Given the description of an element on the screen output the (x, y) to click on. 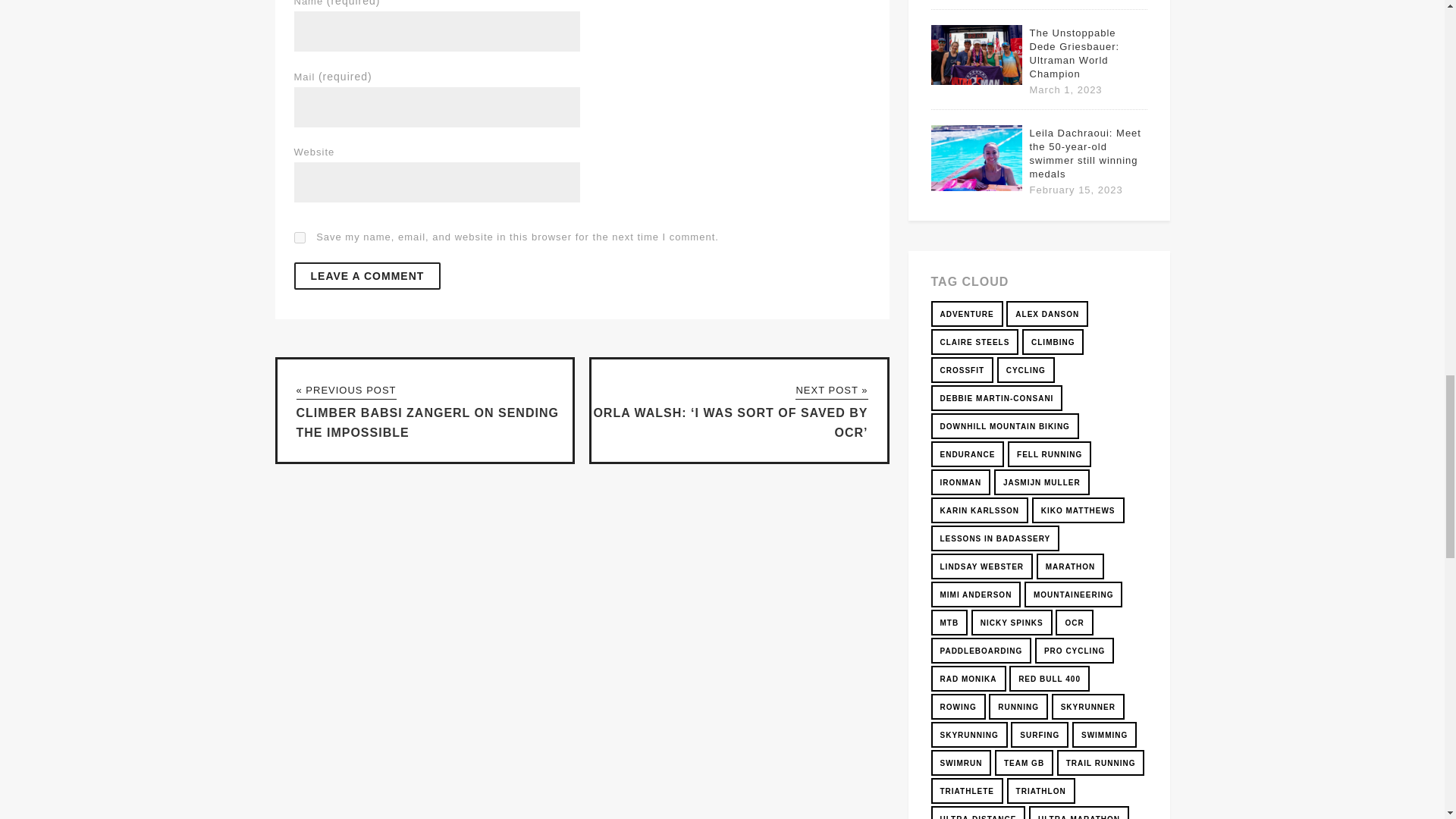
Leave a Comment (367, 275)
Leave a Comment (367, 275)
yes (299, 237)
